Given the description of an element on the screen output the (x, y) to click on. 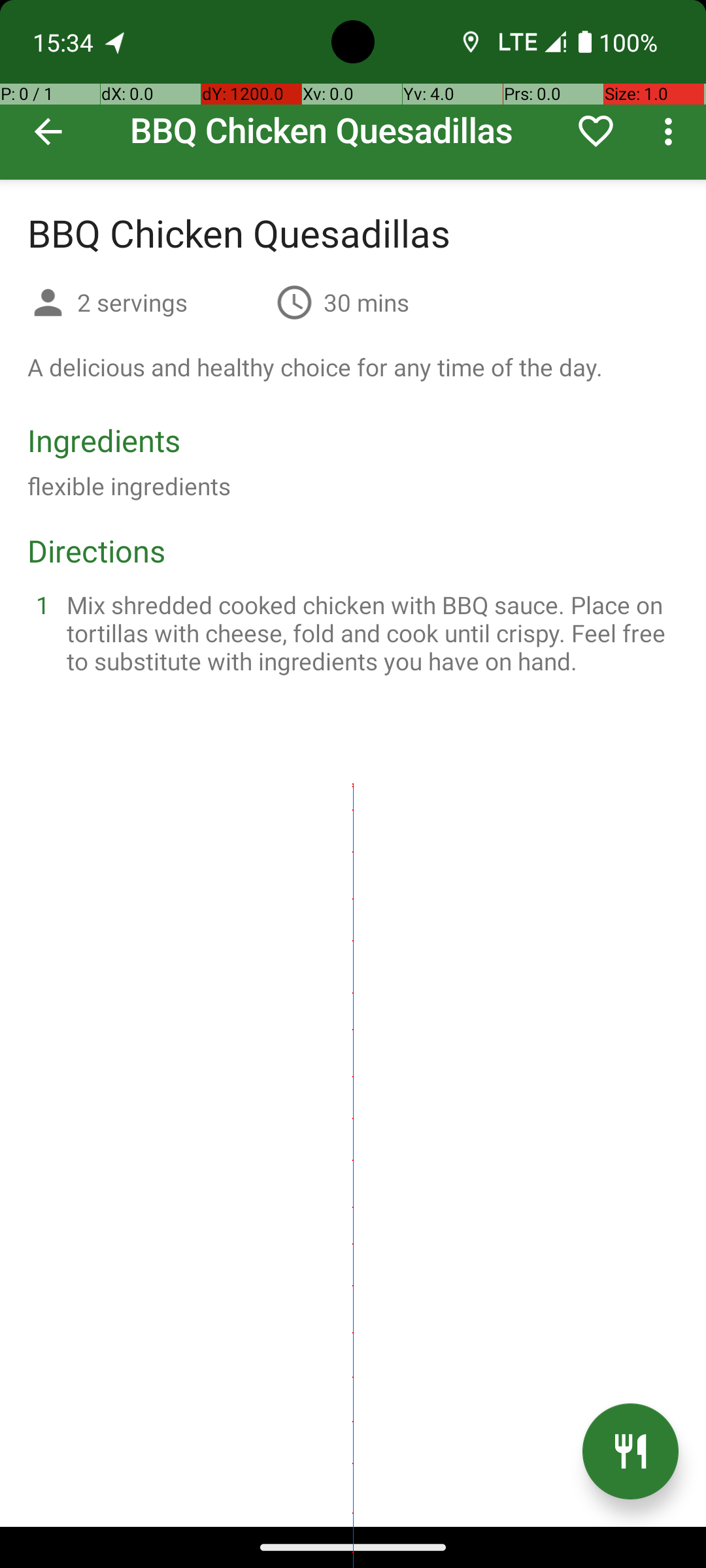
Mix shredded cooked chicken with BBQ sauce. Place on tortillas with cheese, fold and cook until crispy. Feel free to substitute with ingredients you have on hand. Element type: android.widget.TextView (368, 632)
